Given the description of an element on the screen output the (x, y) to click on. 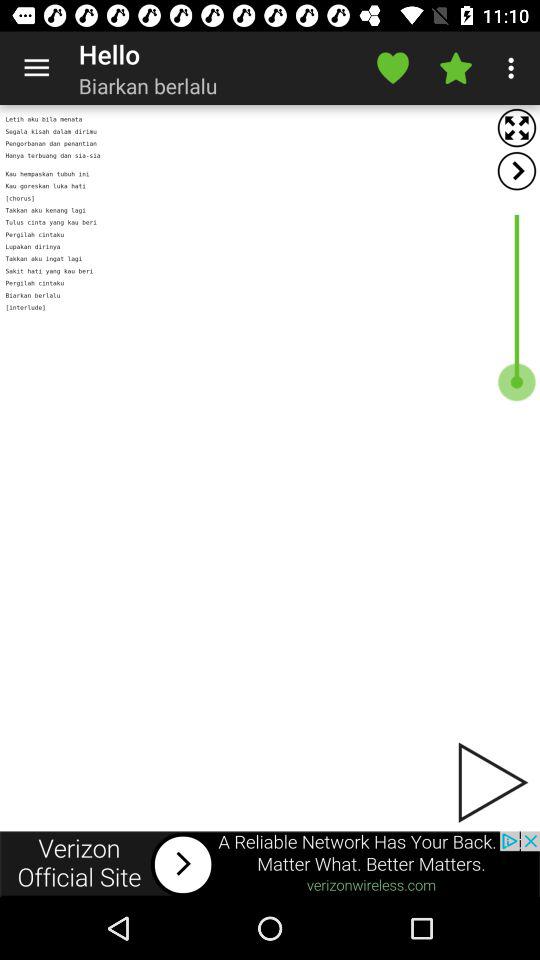
open full screen view (516, 127)
